Given the description of an element on the screen output the (x, y) to click on. 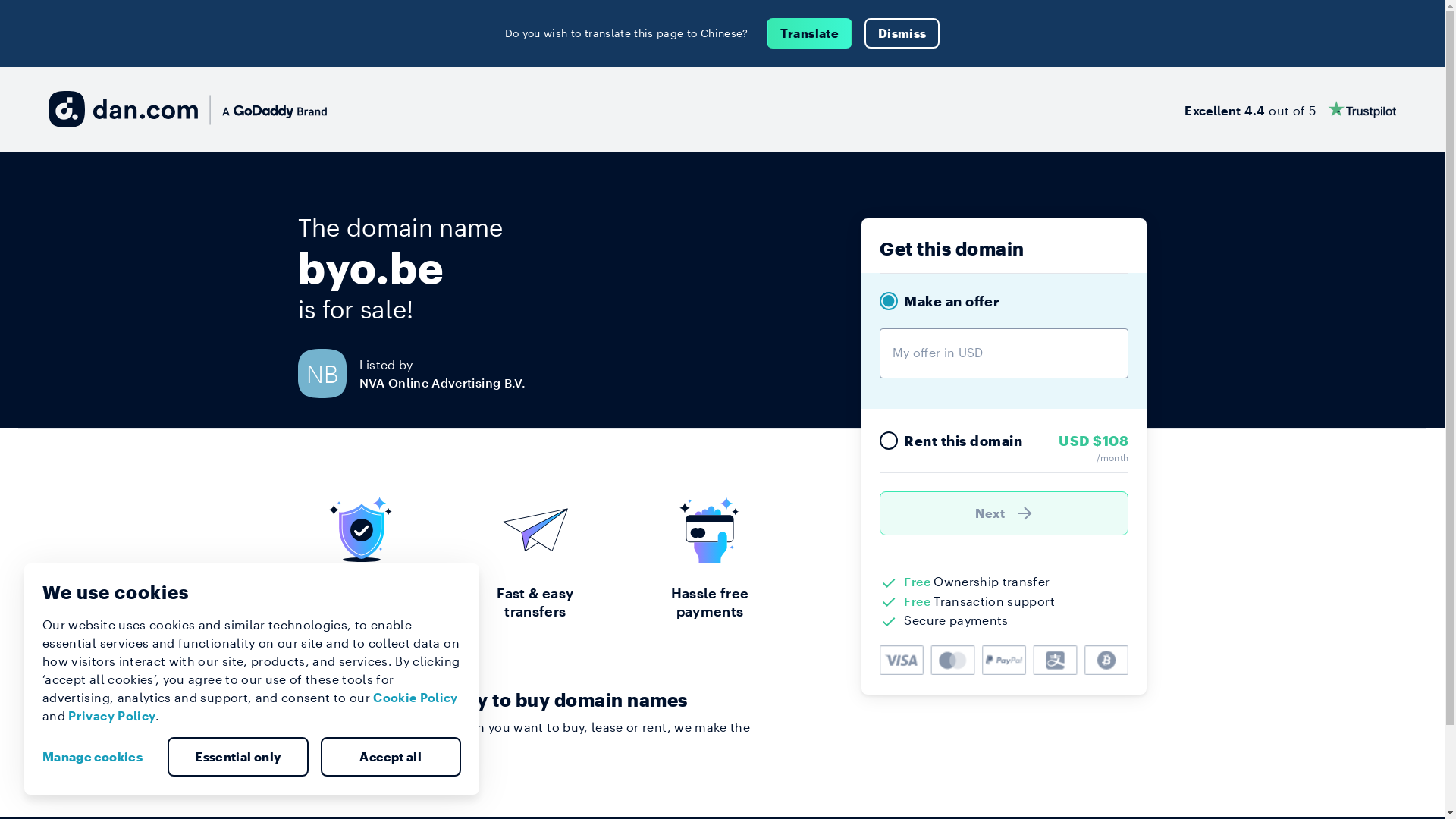
Essential only Element type: text (237, 756)
Next
) Element type: text (1003, 513)
Cookie Policy Element type: text (415, 697)
Accept all Element type: text (390, 756)
Privacy Policy Element type: text (111, 715)
Manage cookies Element type: text (98, 756)
Excellent 4.4 out of 5 Element type: text (1290, 109)
Dismiss Element type: text (901, 33)
Translate Element type: text (809, 33)
